Given the description of an element on the screen output the (x, y) to click on. 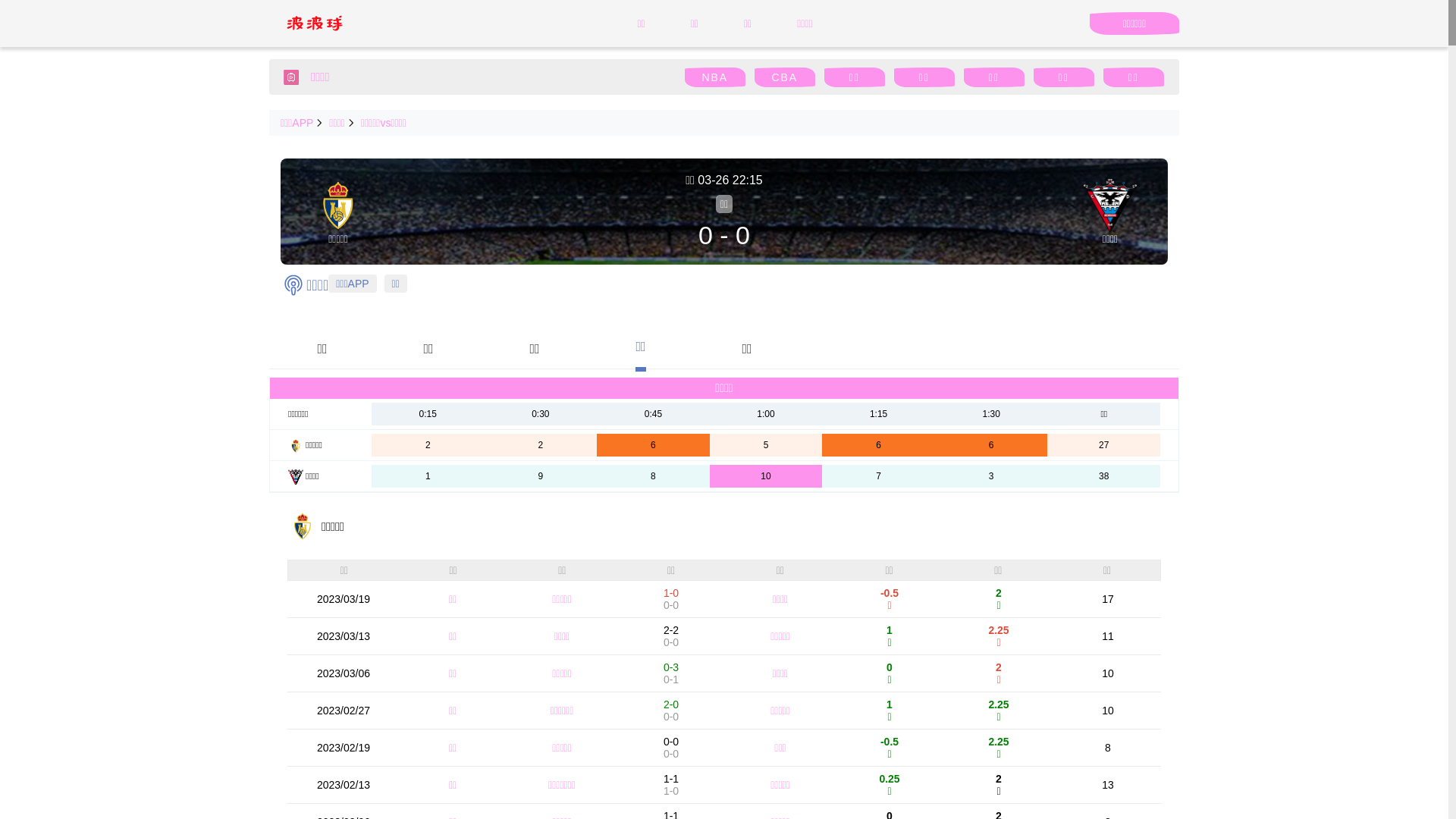
NBA Element type: text (714, 77)
CBA Element type: text (784, 77)
